Given the description of an element on the screen output the (x, y) to click on. 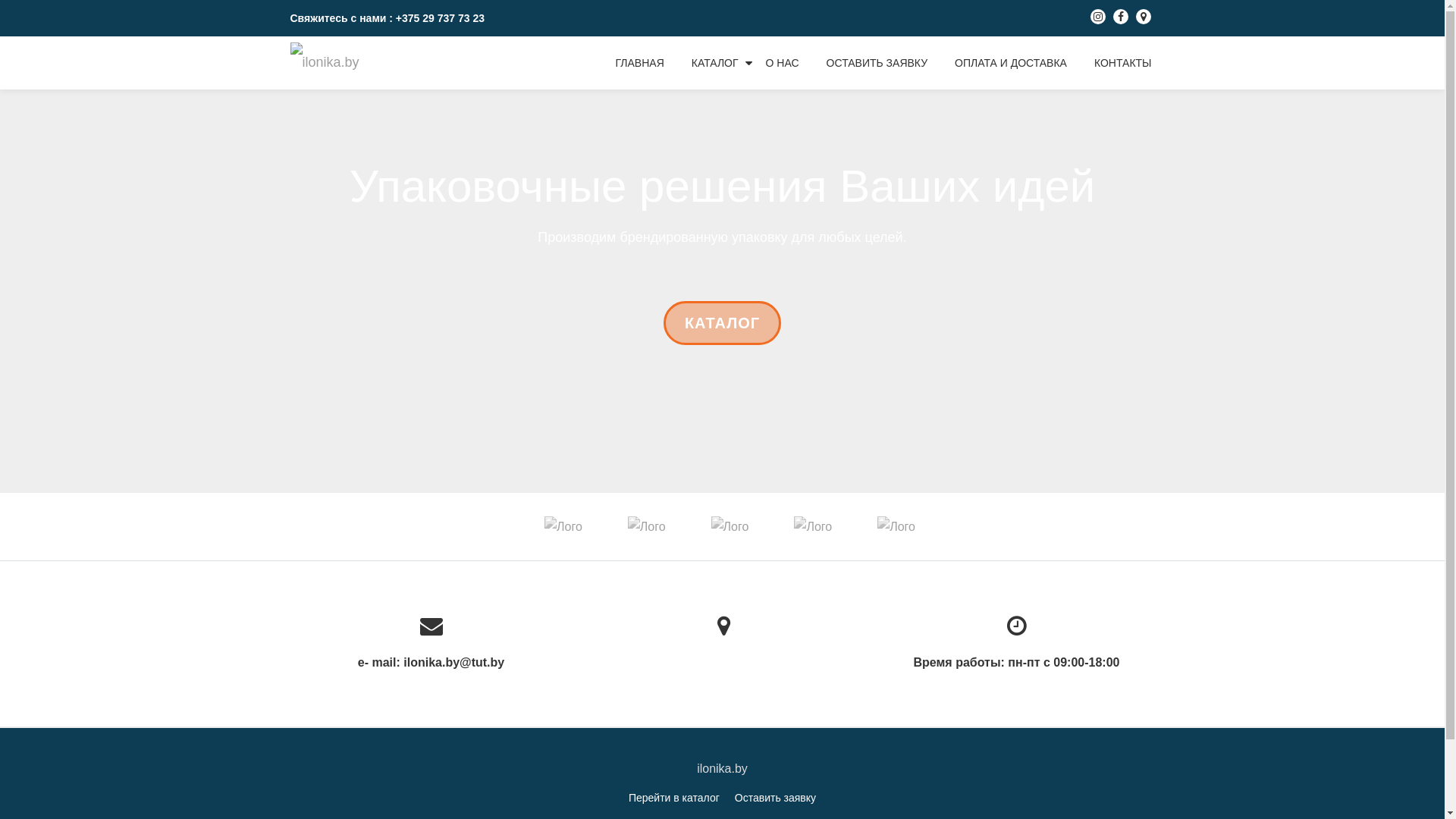
ilonika.by Element type: hover (326, 62)
e- mail: ilonika.by@tut.by Element type: text (430, 637)
